Given the description of an element on the screen output the (x, y) to click on. 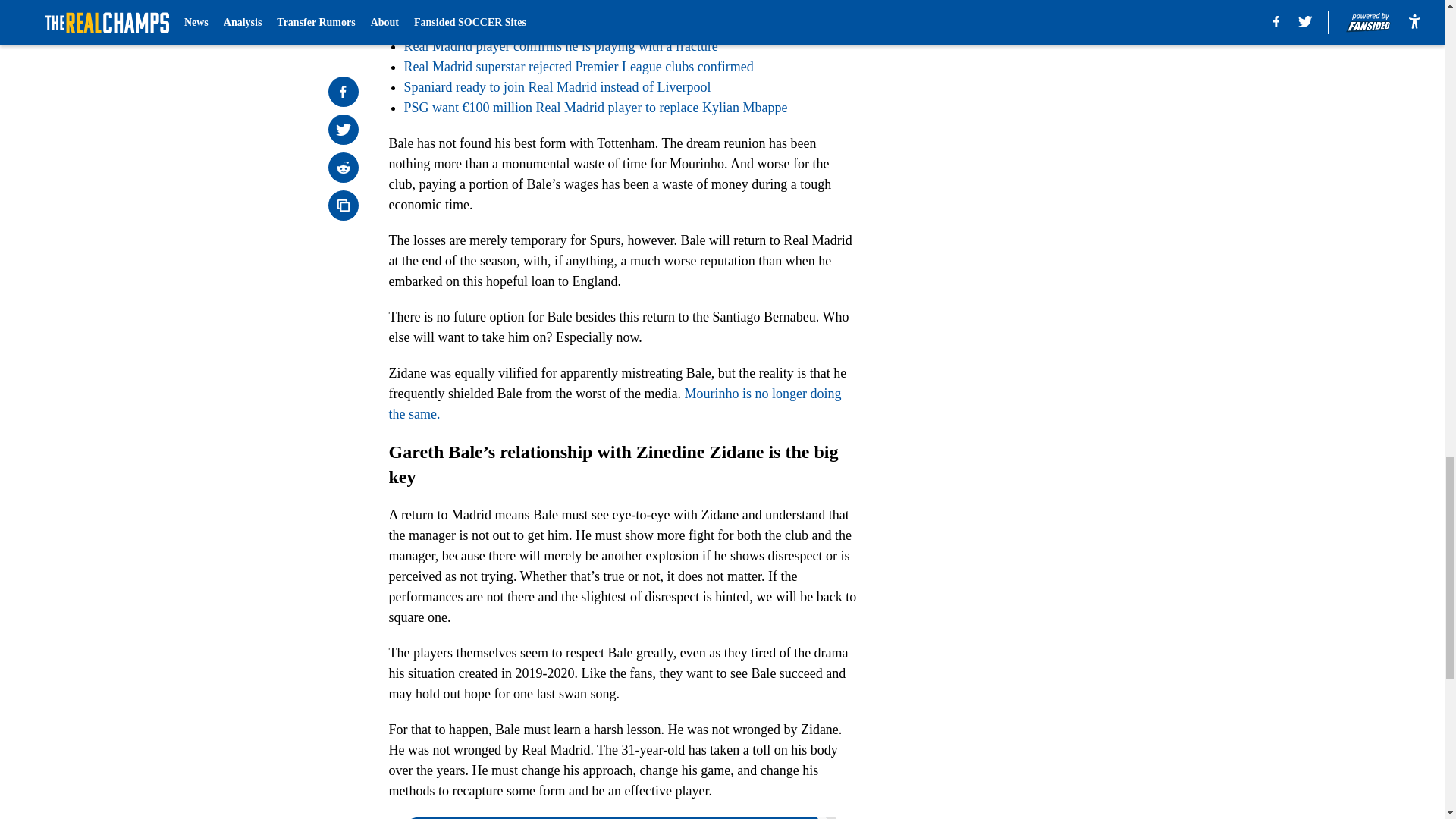
Mourinho is no longer doing the same. (614, 403)
Real Madrid player confirms he is playing with a fracture (560, 46)
Manchester City hold talks over Real Madrid target (543, 25)
Spaniard ready to join Real Madrid instead of Liverpool (556, 87)
